Given the description of an element on the screen output the (x, y) to click on. 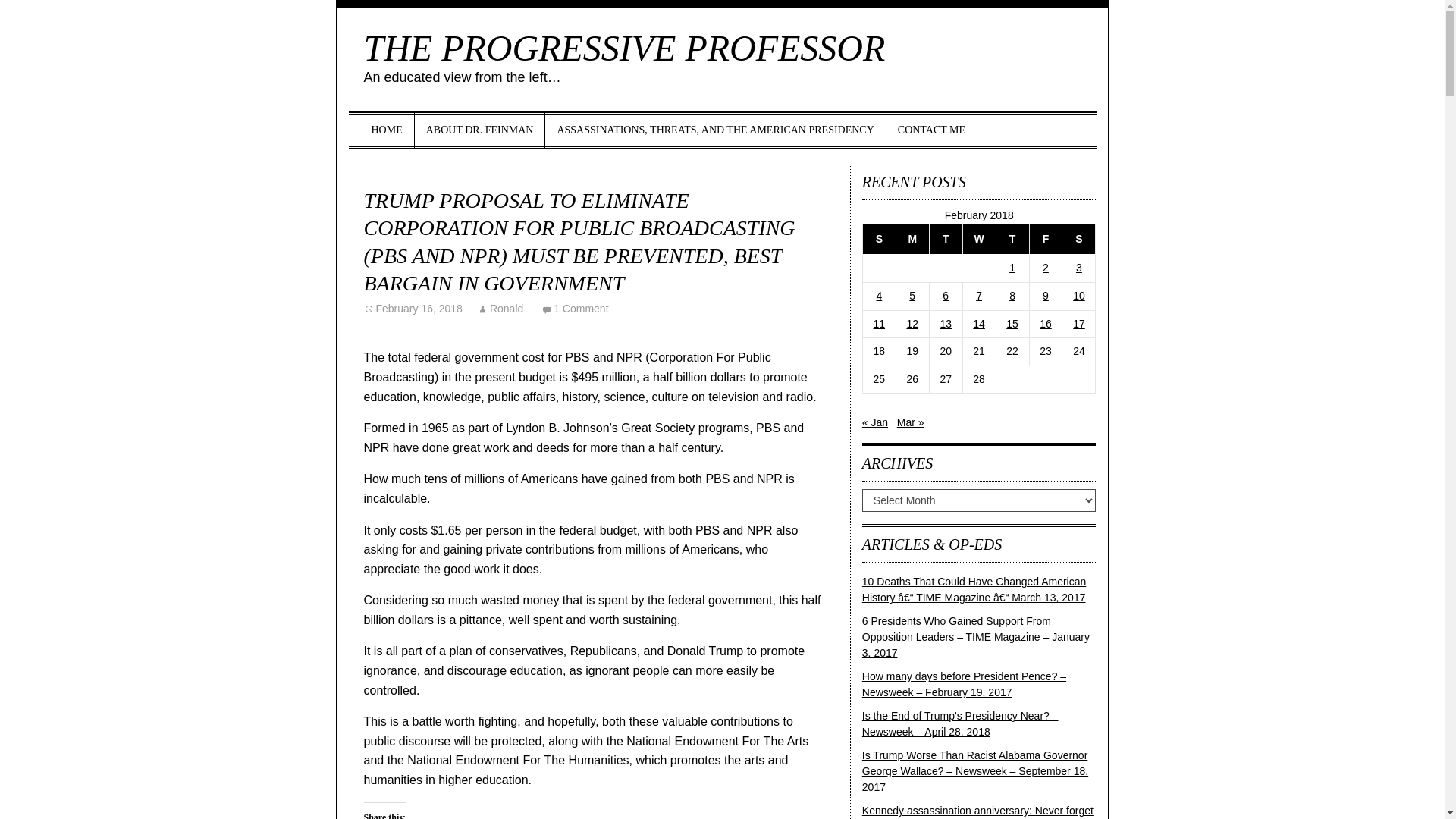
ABOUT DR. FEINMAN (480, 130)
Ronald (499, 308)
Assassinations, Threats, and the American Presidency (714, 130)
Monday (911, 238)
6:33 pm (413, 308)
Contact Me (931, 130)
1 Comment (574, 308)
HOME (386, 130)
View all posts by Ronald (499, 308)
About Dr. Feinman (480, 130)
February 16, 2018 (413, 308)
THE PROGRESSIVE PROFESSOR (624, 47)
The Progressive Professor (624, 47)
Sunday (878, 238)
CONTACT ME (931, 130)
